Given the description of an element on the screen output the (x, y) to click on. 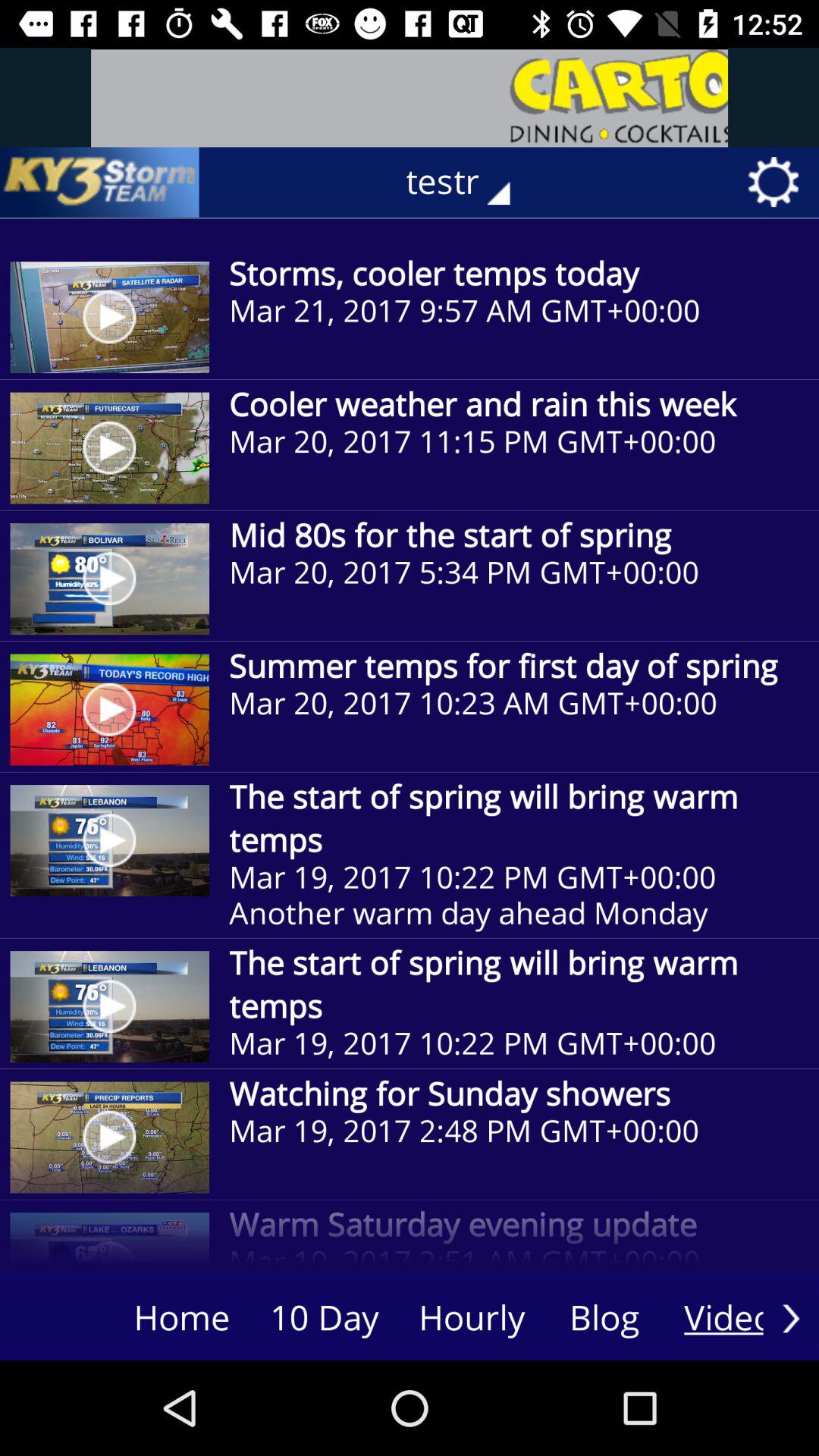
flip until the testr item (468, 182)
